Given the description of an element on the screen output the (x, y) to click on. 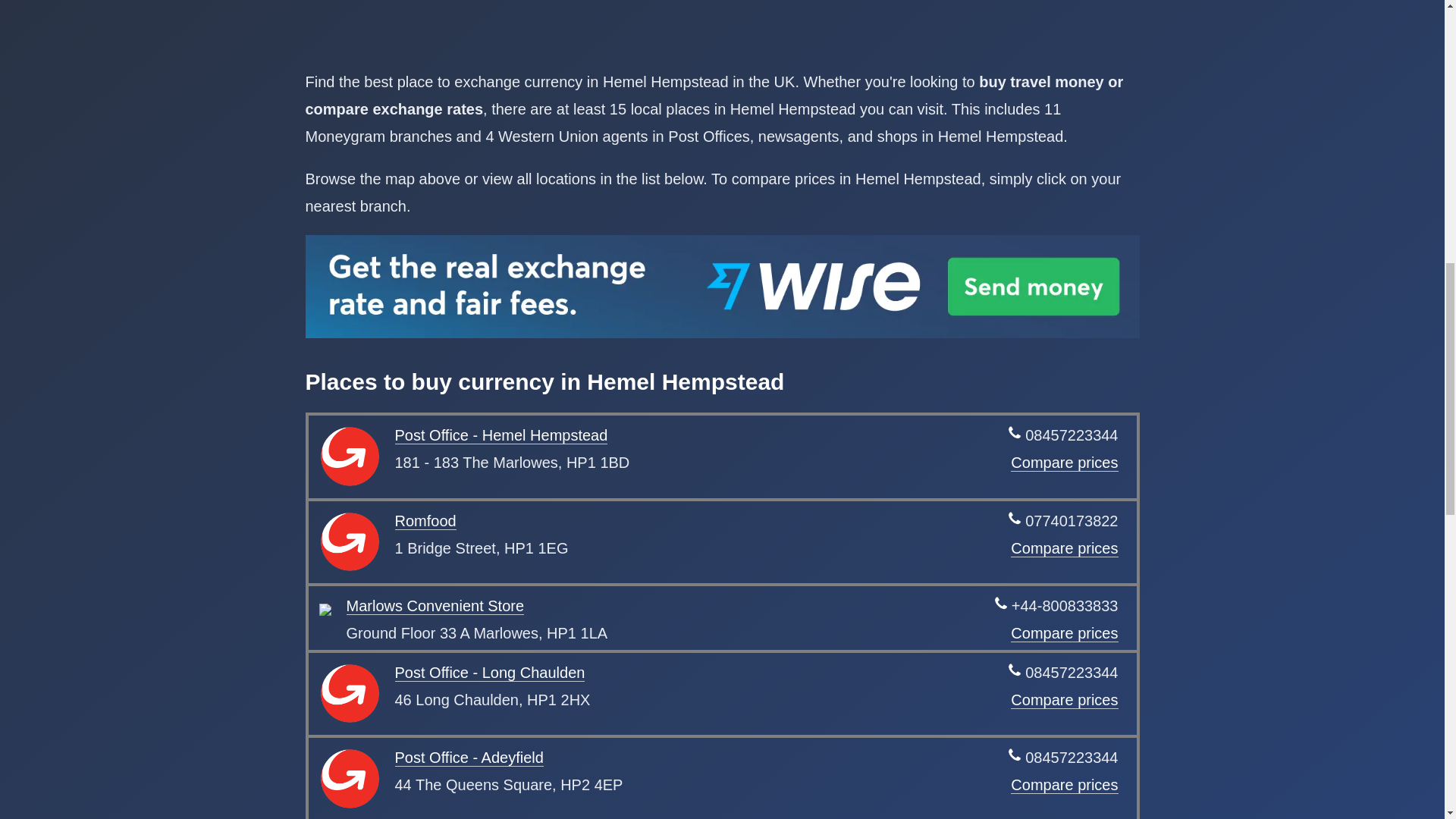
Compare prices (1064, 633)
Compare prices (1064, 784)
Post Office - Long Chaulden (489, 672)
Post Office - Adeyfield (468, 757)
Romfood (424, 520)
Post Office - Hemel Hempstead (500, 435)
Compare prices (1064, 462)
Marlows Convenient Store (435, 606)
Compare prices (1064, 548)
Compare prices (1064, 700)
